Given the description of an element on the screen output the (x, y) to click on. 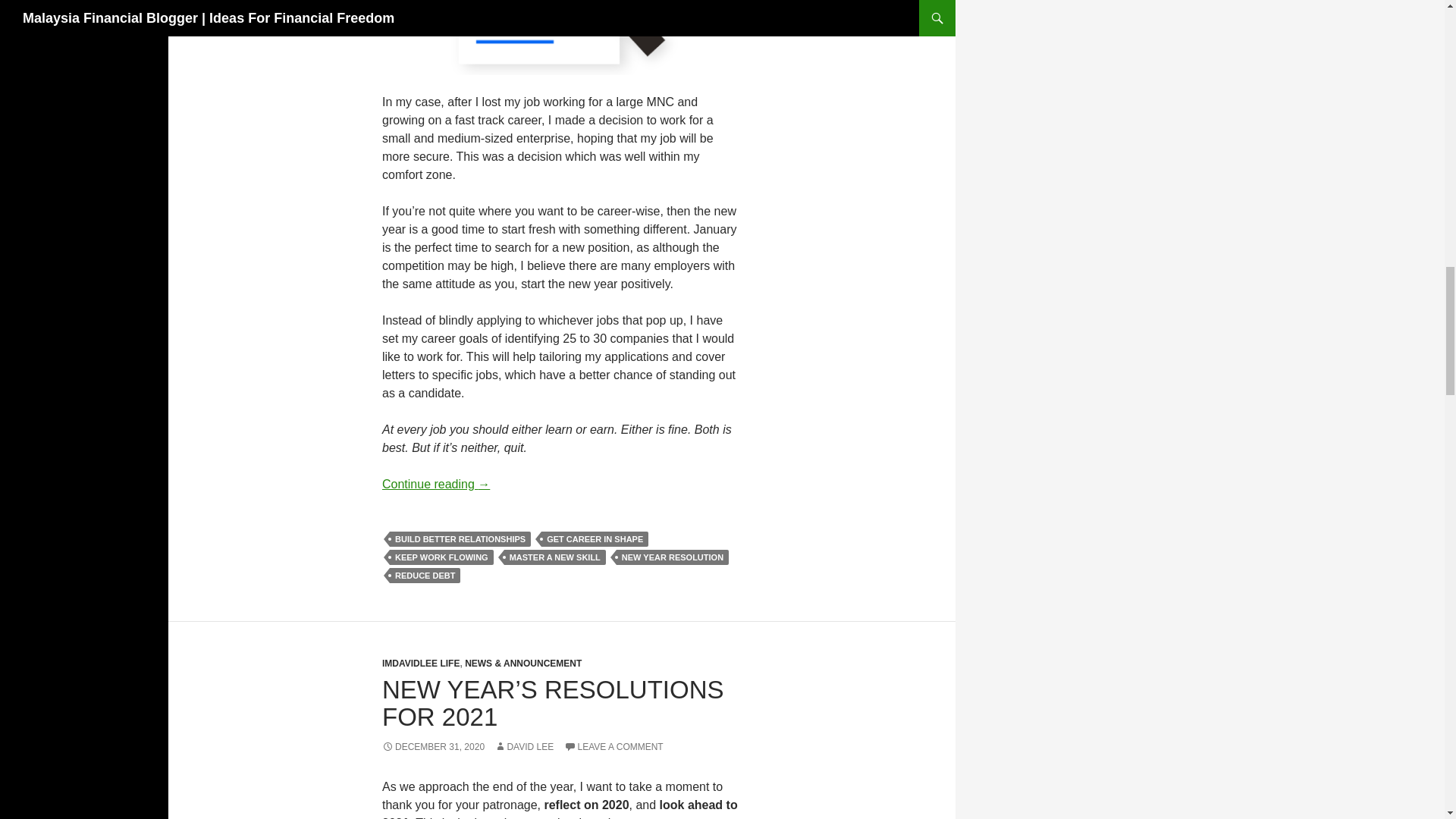
NEW YEAR RESOLUTION (672, 557)
KEEP WORK FLOWING (441, 557)
MASTER A NEW SKILL (554, 557)
REDUCE DEBT (425, 575)
DAVID LEE (524, 747)
BUILD BETTER RELATIONSHIPS (460, 539)
GET CAREER IN SHAPE (594, 539)
DECEMBER 31, 2020 (432, 747)
LEAVE A COMMENT (613, 747)
IMDAVIDLEE LIFE (420, 663)
